Given the description of an element on the screen output the (x, y) to click on. 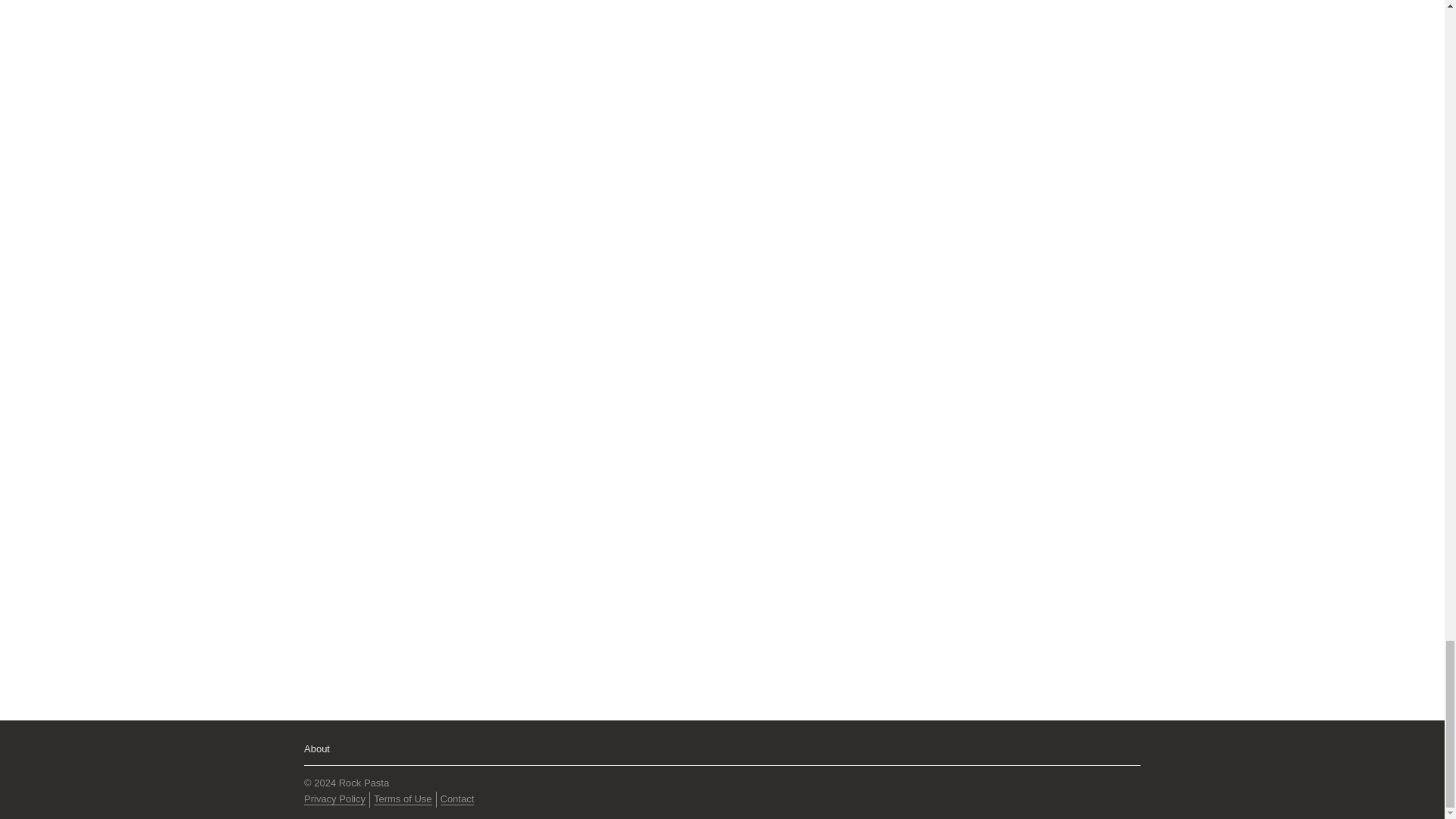
About (317, 748)
